Given the description of an element on the screen output the (x, y) to click on. 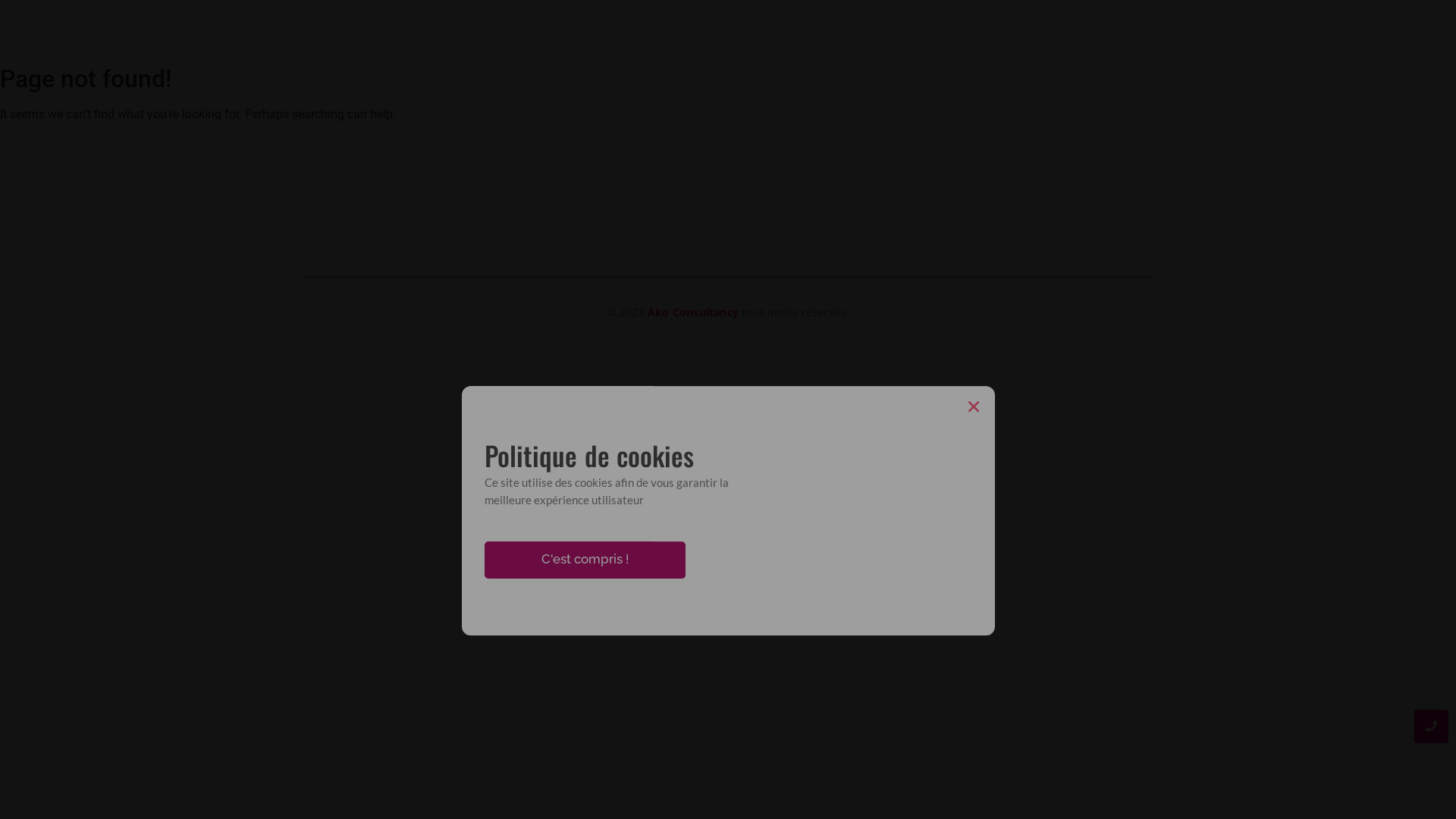
Contact Element type: text (843, 235)
Contact Element type: text (1126, 28)
Services Element type: text (1057, 28)
Accueil Element type: text (856, 28)
Accueil Element type: text (610, 235)
